Given the description of an element on the screen output the (x, y) to click on. 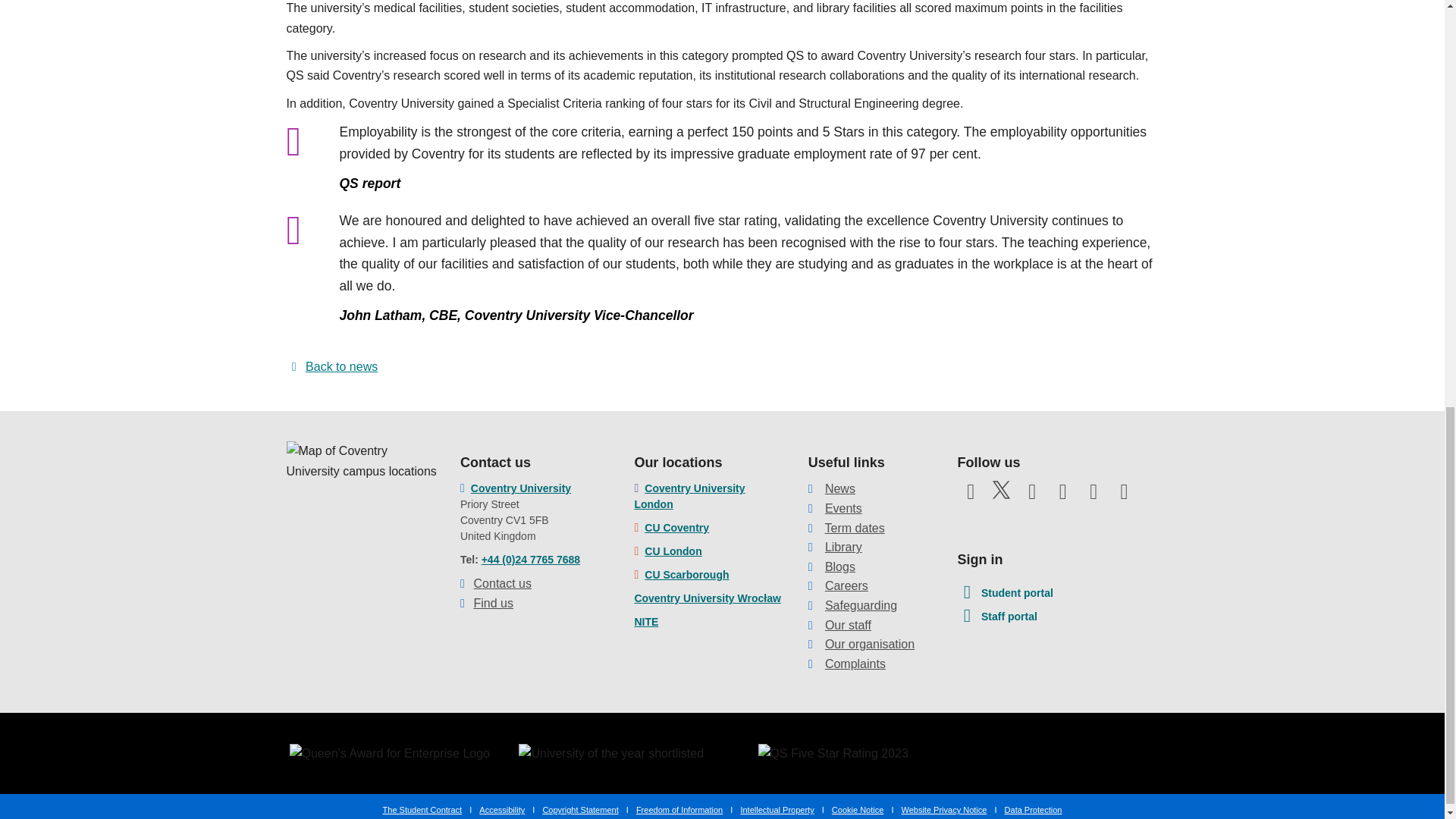
Blogs (840, 566)
News (840, 488)
Follow us on TikTok (970, 520)
Subscribe to our YouTube Channel (1031, 495)
QS Five Star Rating 2023 (833, 753)
Add us on Snapchat (1124, 495)
Careers (846, 585)
Term dates (855, 527)
Our organisation (869, 644)
Staff portal website (996, 616)
